Given the description of an element on the screen output the (x, y) to click on. 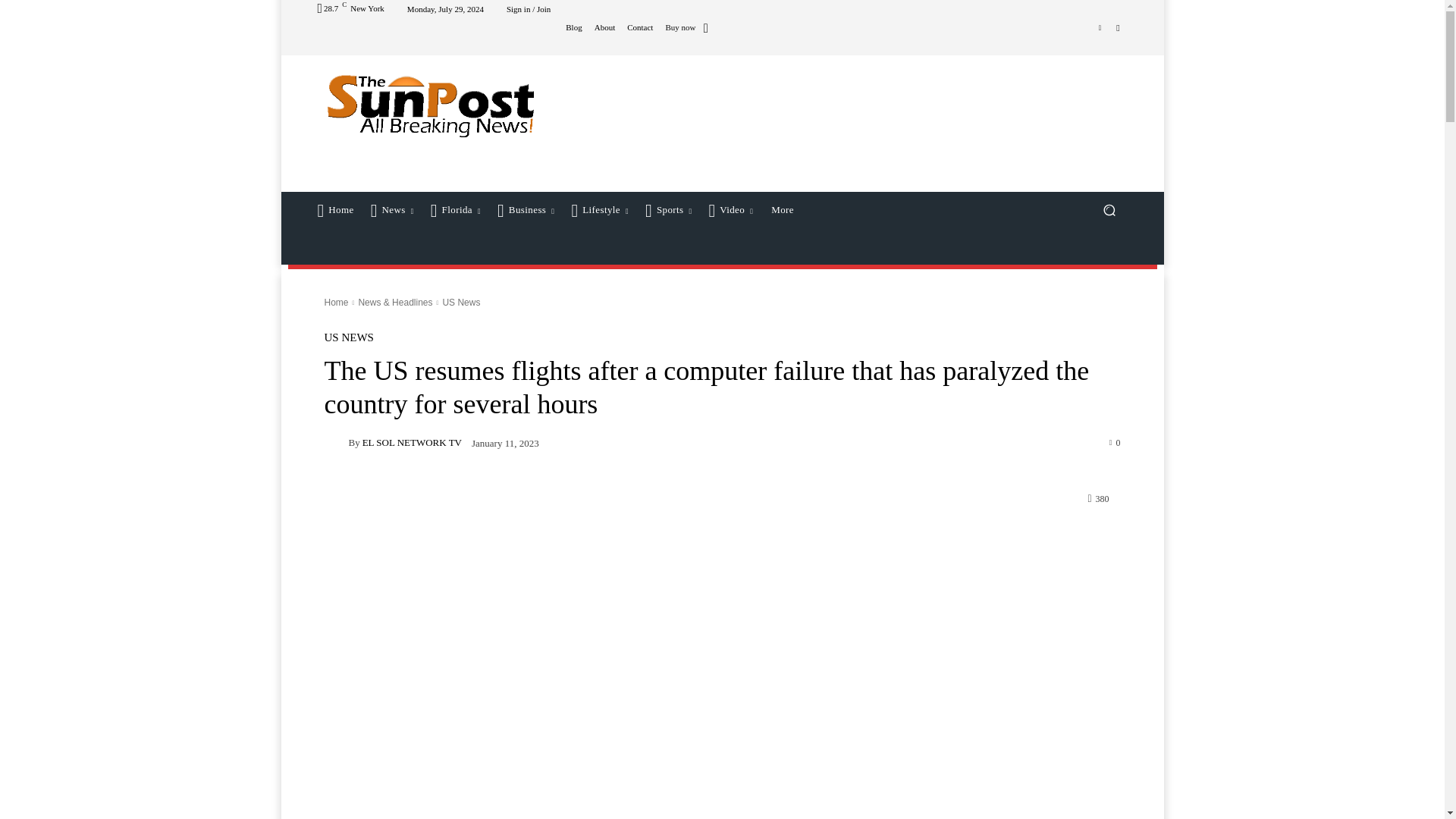
Vimeo (1099, 27)
Youtube (1117, 27)
About (604, 27)
Blog (573, 27)
Contact (639, 27)
